Given the description of an element on the screen output the (x, y) to click on. 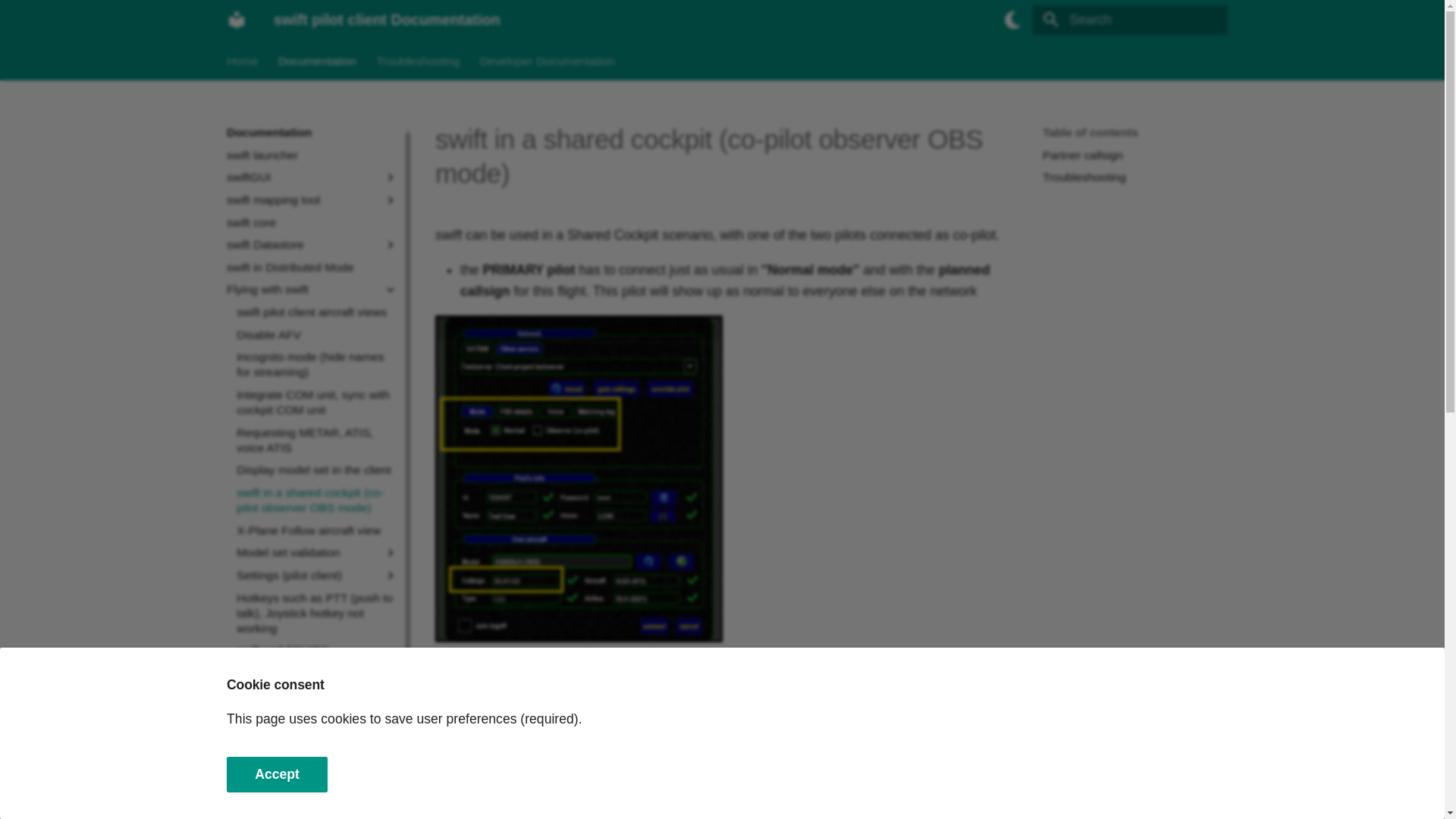
swift pilot client Documentation (236, 19)
Developer Documentation (547, 60)
To Dark Mode (1012, 19)
Troubleshooting (417, 60)
Documentation (317, 60)
Home (242, 60)
